Given the description of an element on the screen output the (x, y) to click on. 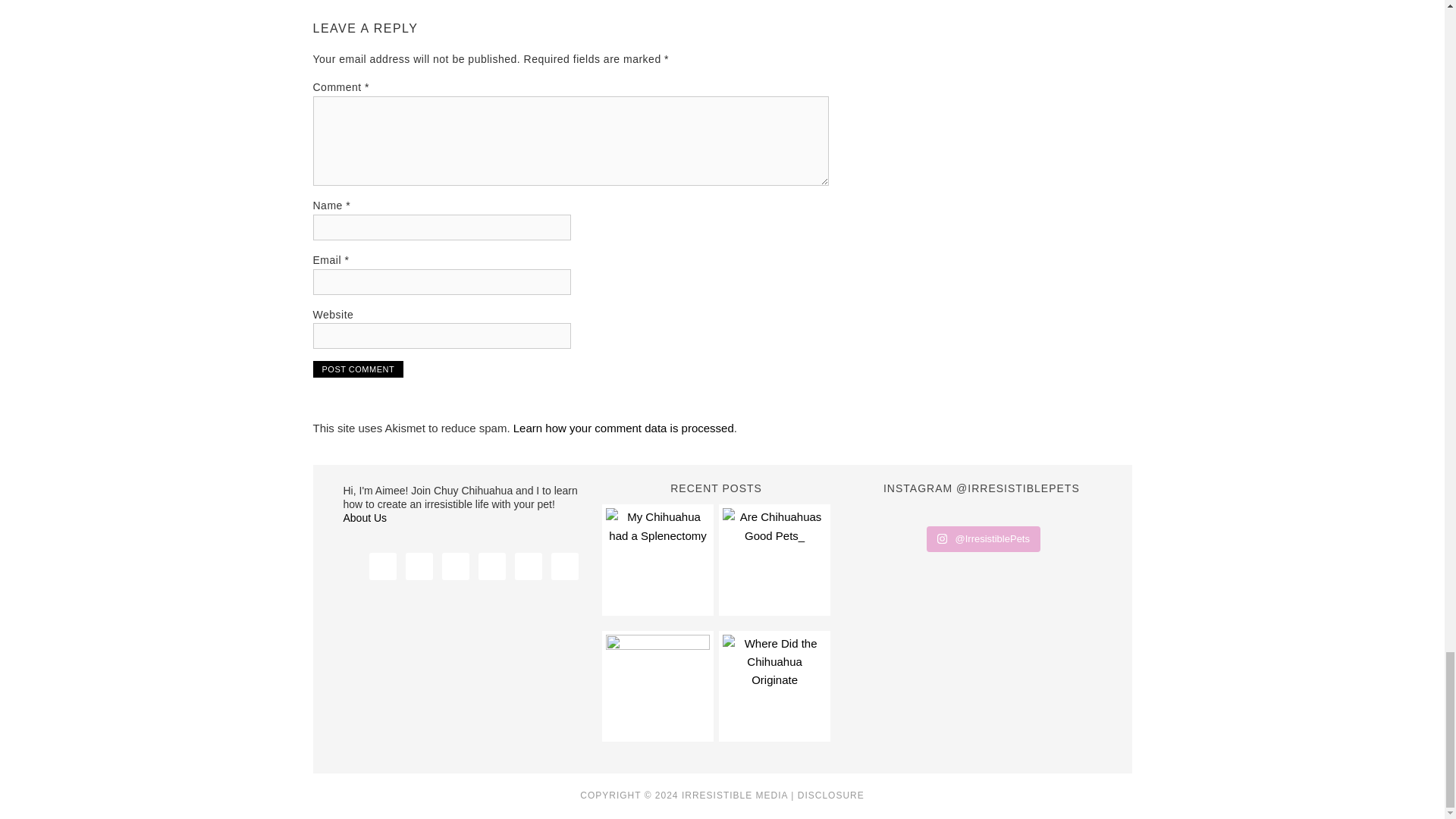
My Chihuahua Had a Splenectomy (657, 558)
Post Comment (358, 369)
Are Chihuahuas Good Pets? (773, 558)
Where Did the Chihuahua Originate? (773, 685)
Post Comment (358, 369)
